Given the description of an element on the screen output the (x, y) to click on. 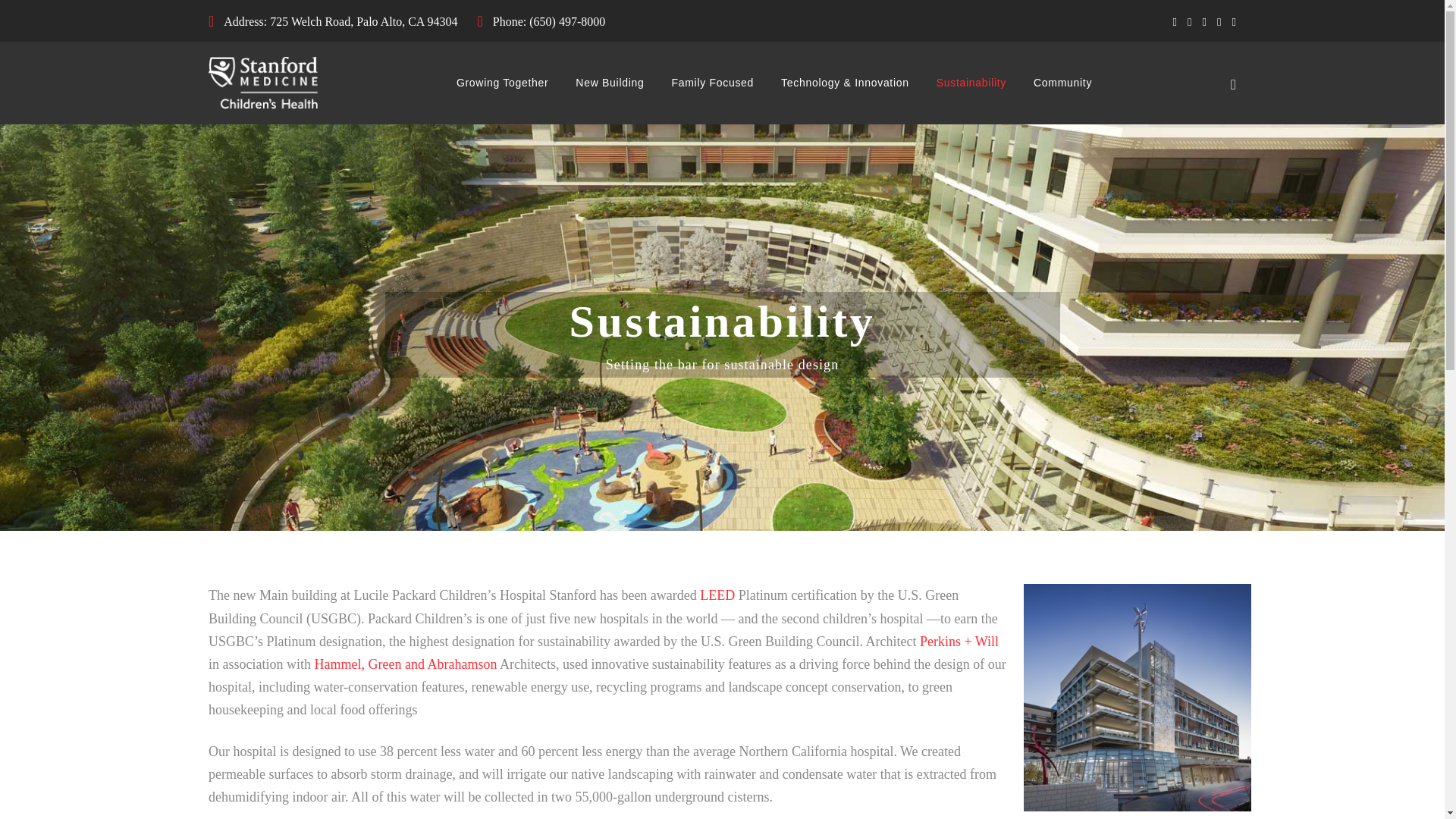
LEED (717, 595)
725 Welch Road, Palo Alto, CA 94304 (363, 21)
Growing Together (502, 82)
Family Focused (712, 82)
Sustainability (971, 82)
Hammel, Green and Abrahamson (405, 663)
New Building (609, 82)
Community (1062, 82)
